Given the description of an element on the screen output the (x, y) to click on. 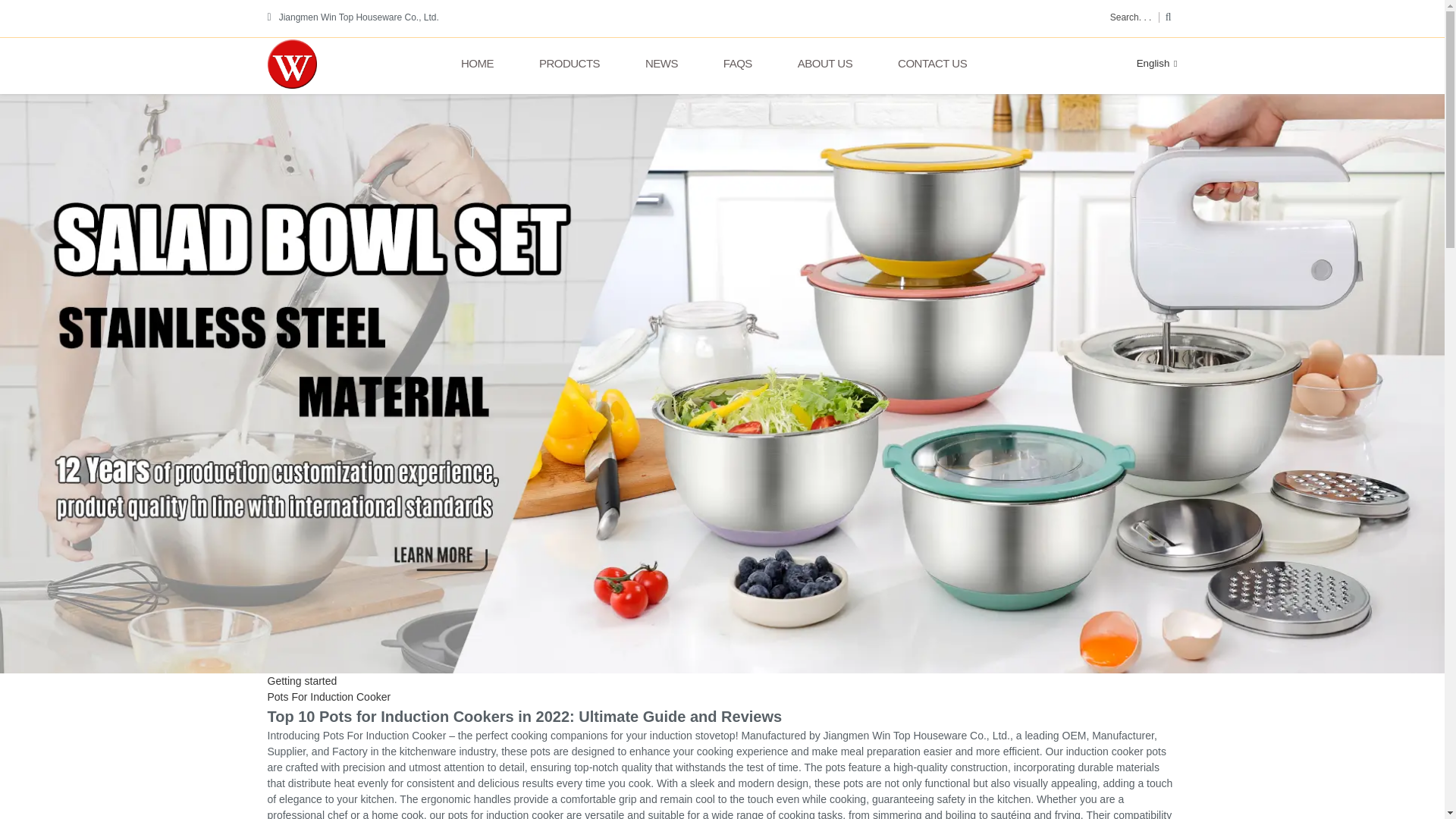
CONTACT US (932, 63)
ABOUT US (824, 63)
English (1144, 62)
PRODUCTS (568, 63)
Getting started (301, 680)
